Given the description of an element on the screen output the (x, y) to click on. 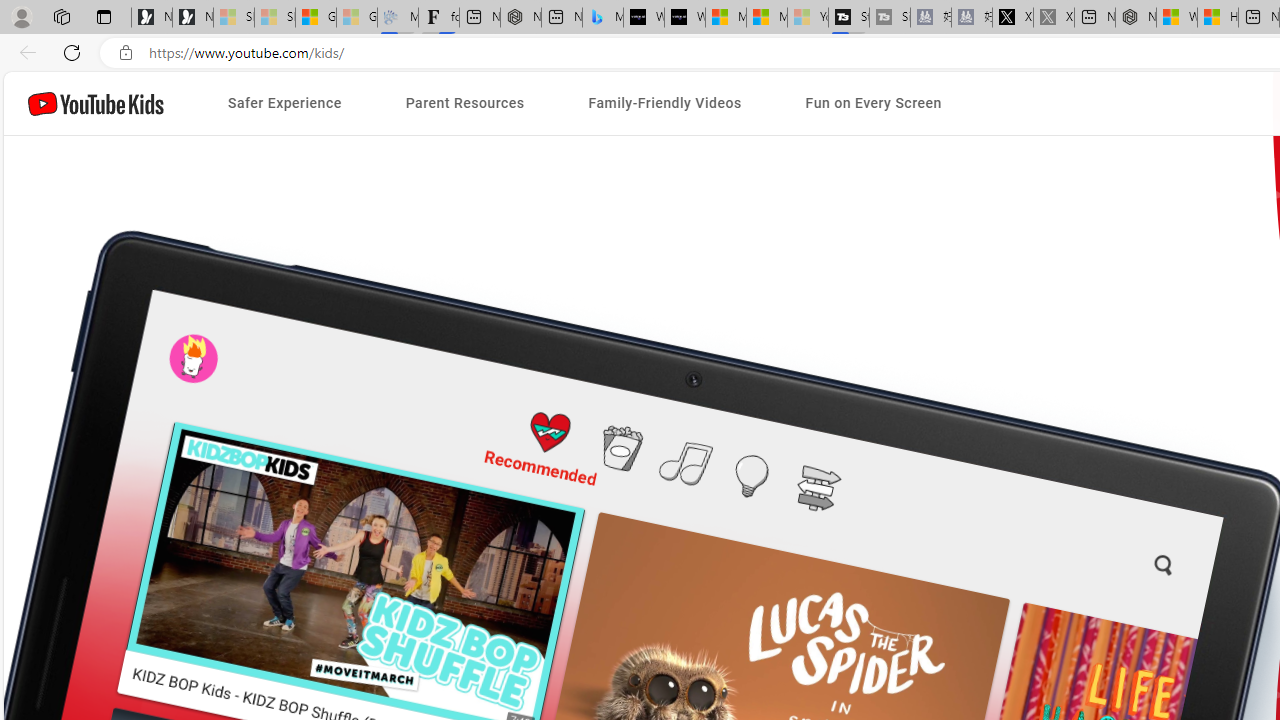
What's the best AI voice generator? - voice.ai (684, 17)
Safer Experience (284, 103)
Huge shark washes ashore at New York City beach | Watch (1217, 17)
Nordace - #1 Japanese Best-Seller - Siena Smart Backpack (520, 17)
Streaming Coverage | T3 (849, 17)
Microsoft Start Sports (726, 17)
Fun on Every Screen (873, 103)
